Given the description of an element on the screen output the (x, y) to click on. 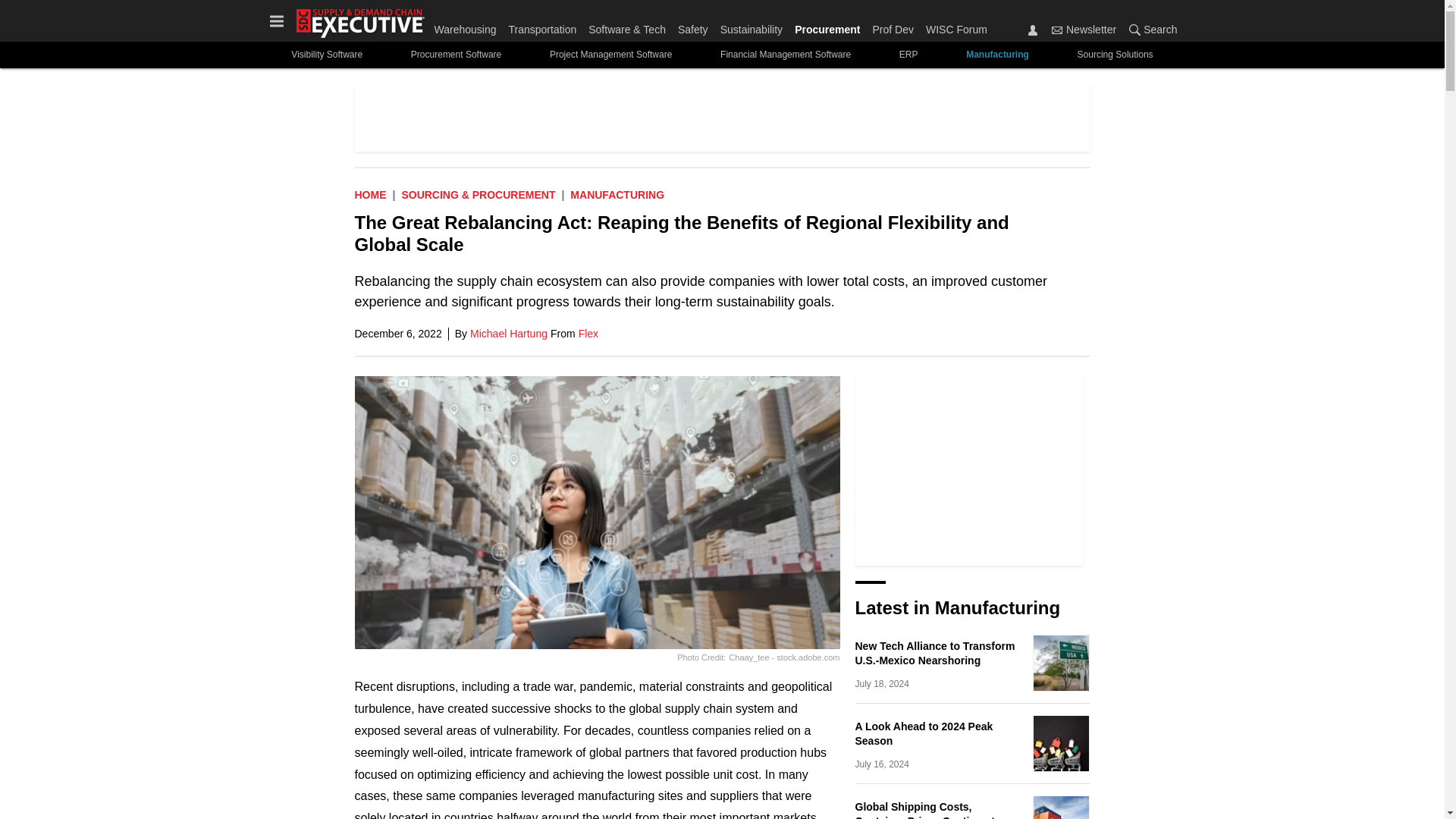
Financial Management Software (785, 54)
Warehousing (467, 26)
WISC Forum (953, 26)
Search (1134, 29)
Procurement (827, 26)
Manufacturing (996, 54)
3rd party ad content (722, 117)
Procurement Software (456, 54)
ERP (908, 54)
Transportation (542, 26)
Safety (692, 26)
Newsletter (1083, 29)
Sign In (1032, 29)
3rd party ad content (969, 470)
Manufacturing (616, 194)
